Given the description of an element on the screen output the (x, y) to click on. 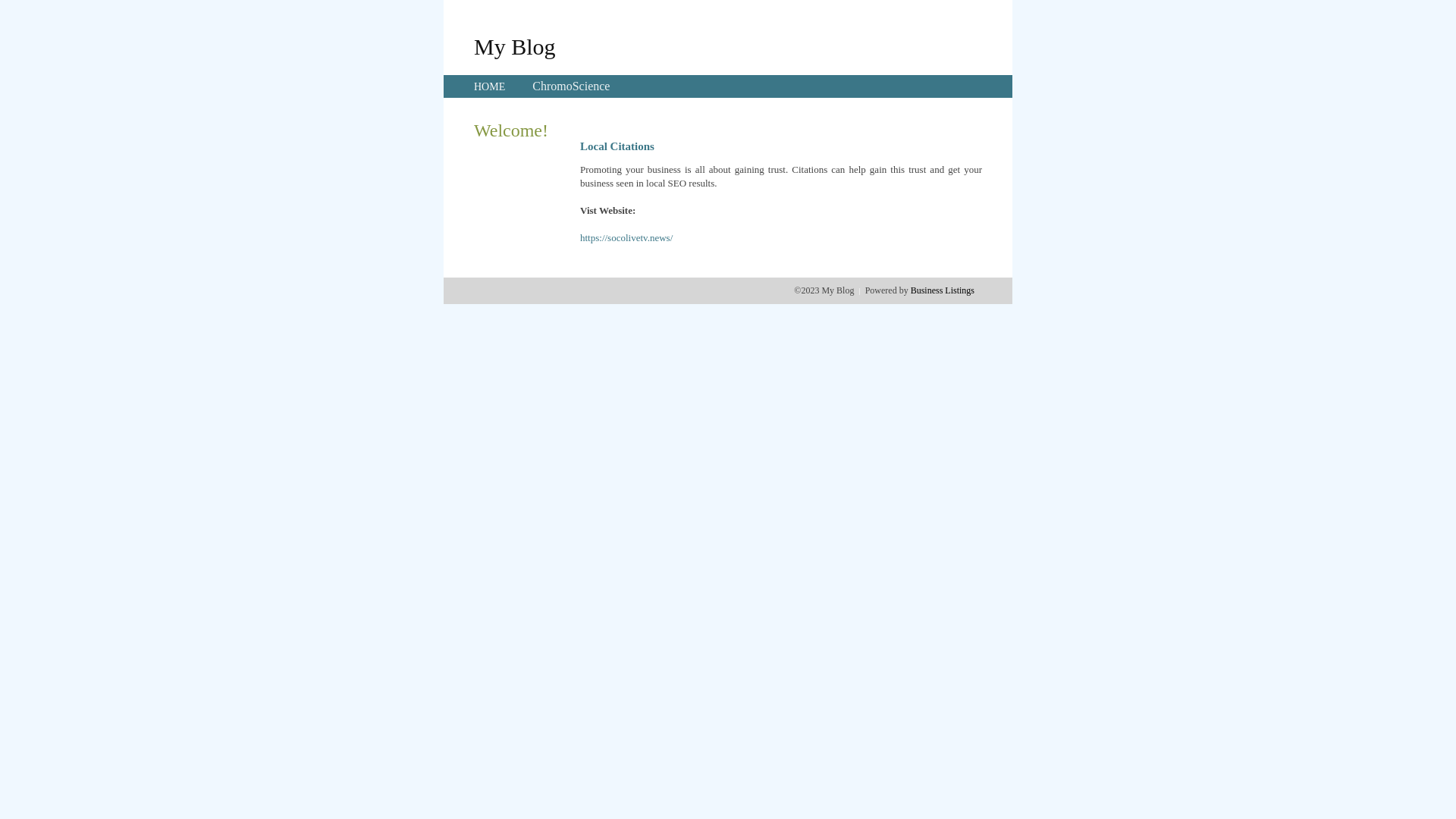
https://socolivetv.news/ Element type: text (626, 237)
Business Listings Element type: text (942, 290)
My Blog Element type: text (514, 46)
HOME Element type: text (489, 86)
ChromoScience Element type: text (570, 85)
